Given the description of an element on the screen output the (x, y) to click on. 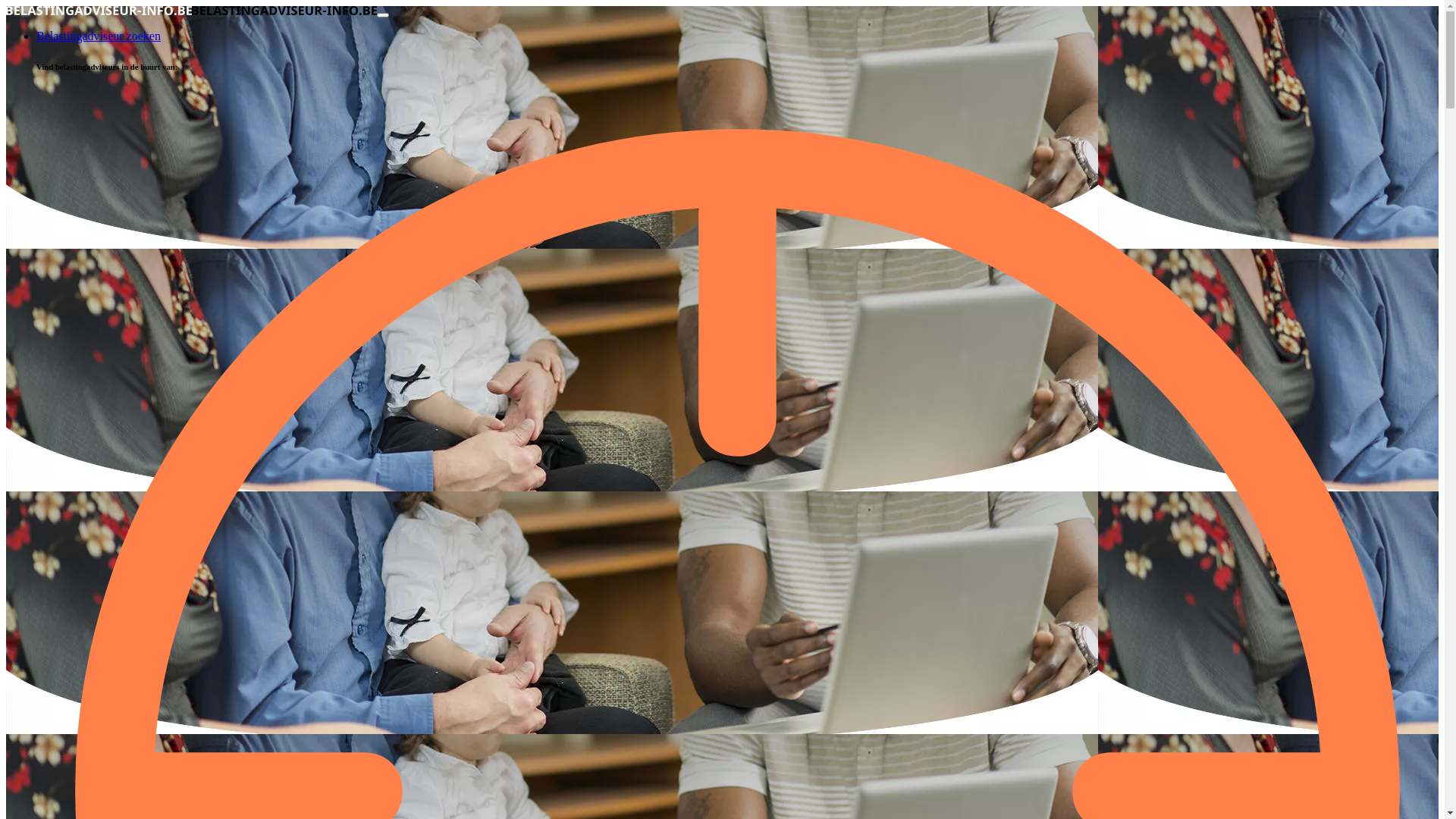
Belastingadviseur zoeken Element type: text (98, 35)
